Given the description of an element on the screen output the (x, y) to click on. 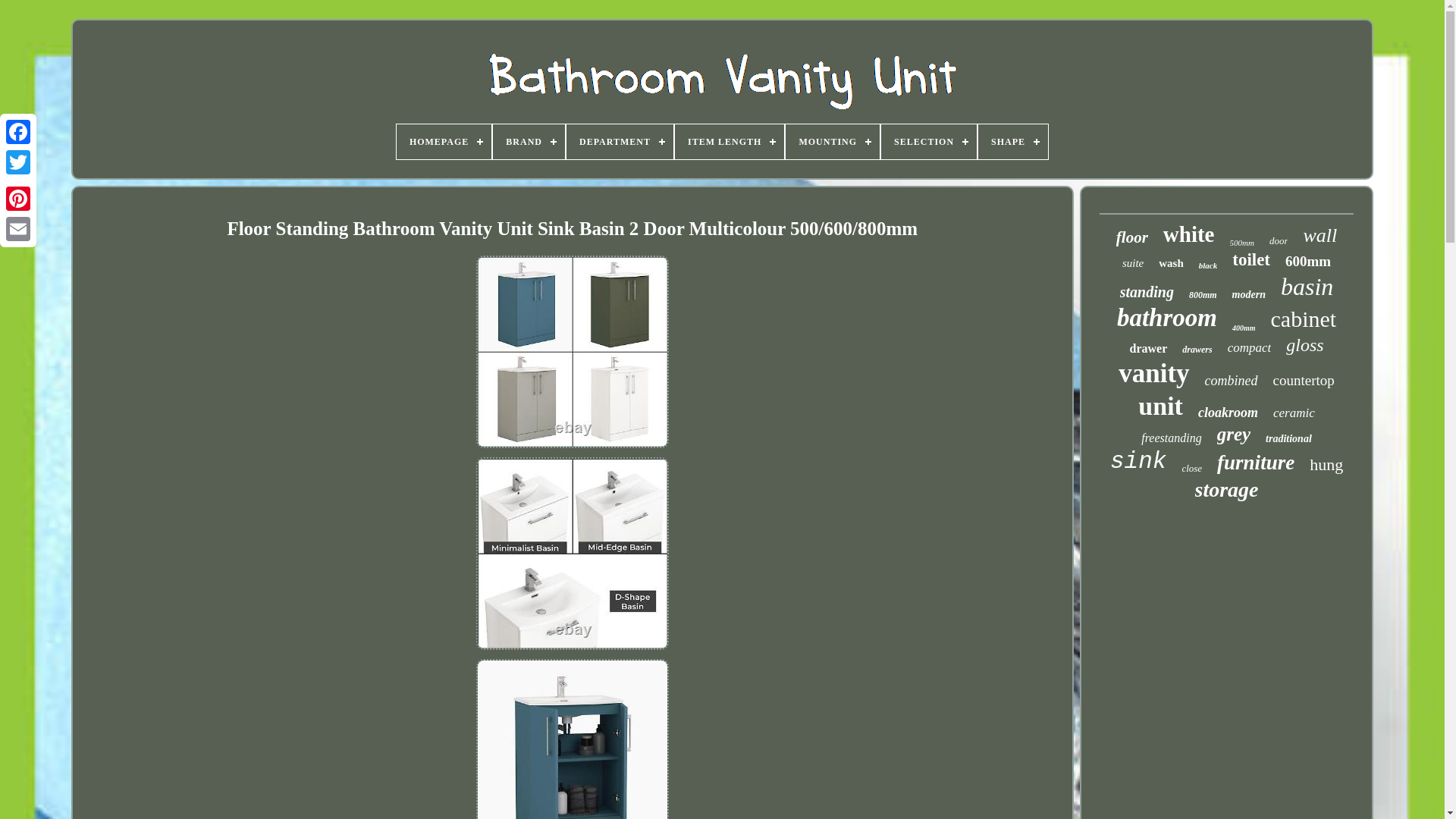
HOMEPAGE (444, 141)
BRAND (528, 141)
DEPARTMENT (619, 141)
Email (17, 228)
